Given the description of an element on the screen output the (x, y) to click on. 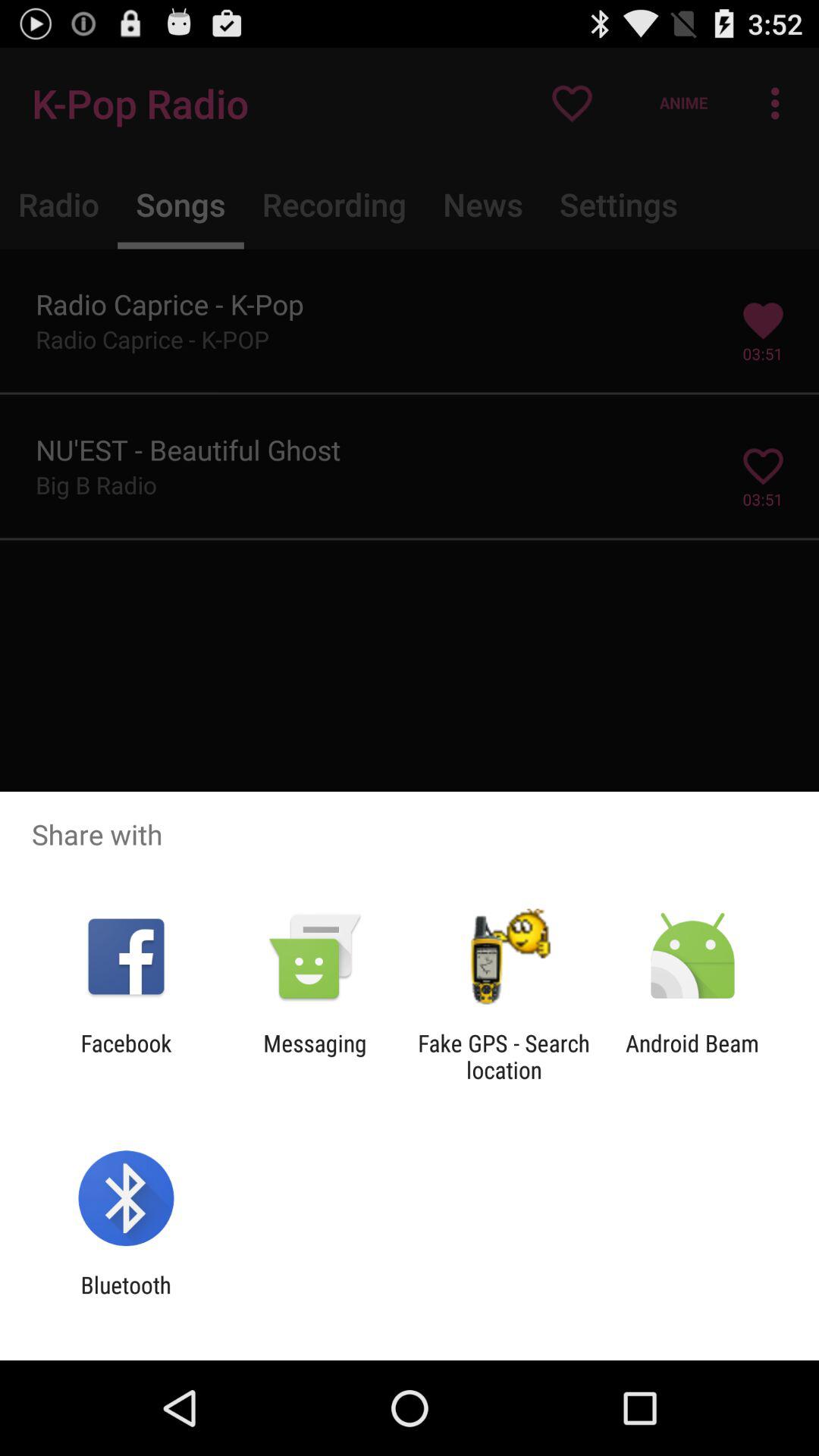
choose the app next to facebook item (314, 1056)
